Given the description of an element on the screen output the (x, y) to click on. 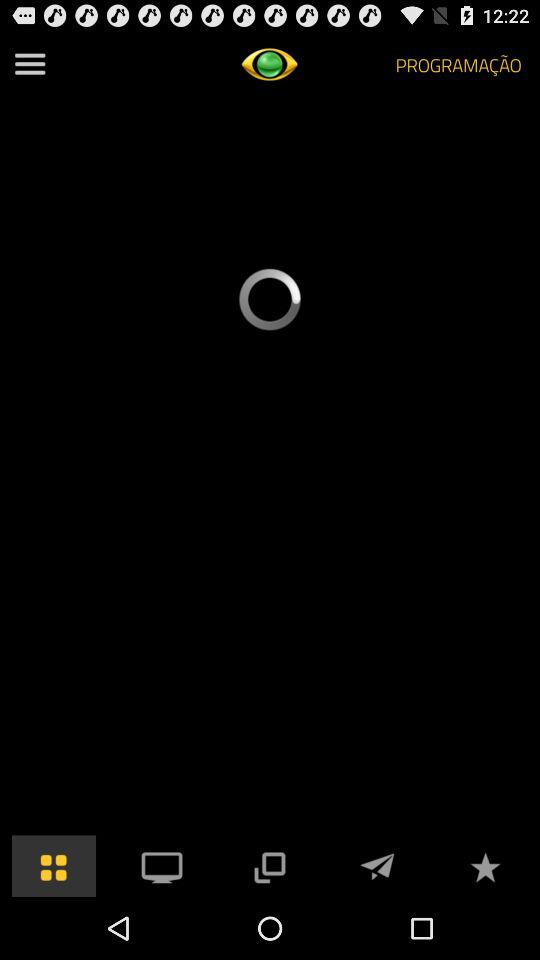
go to library (54, 865)
